Given the description of an element on the screen output the (x, y) to click on. 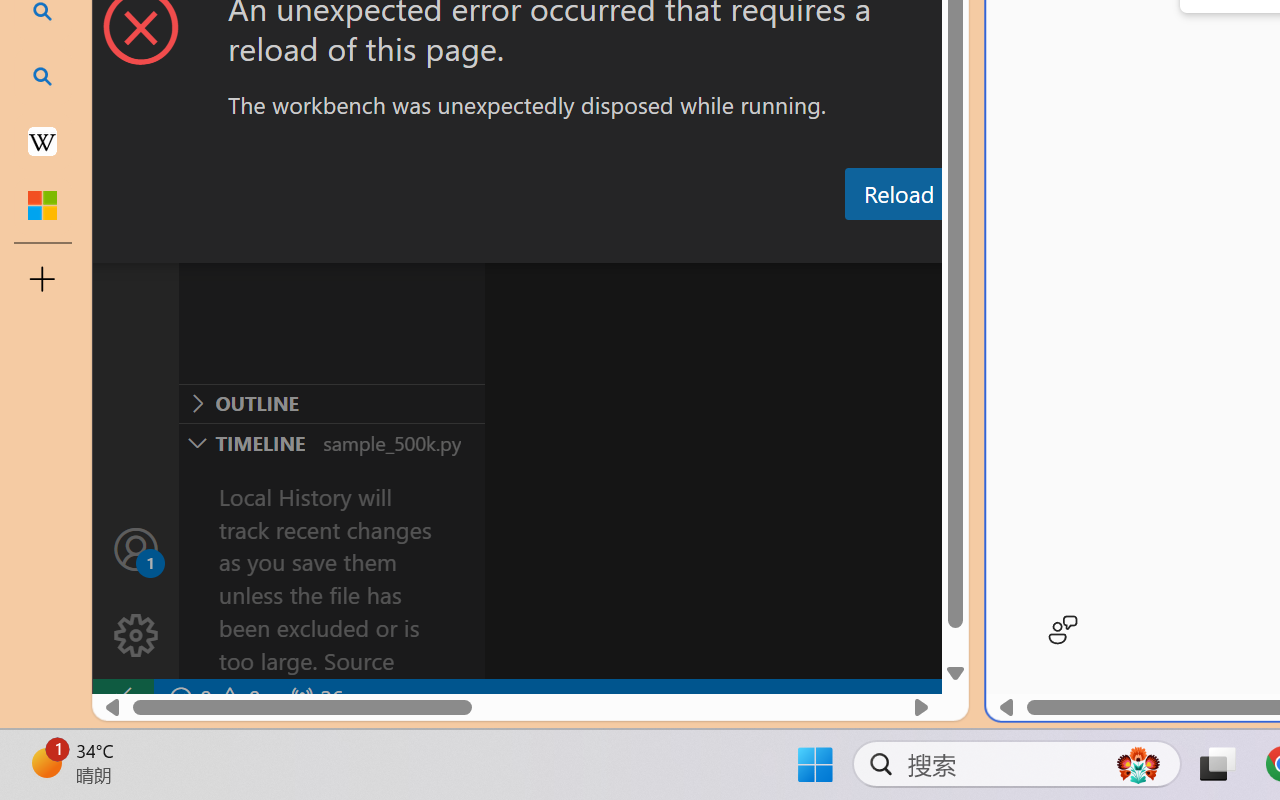
Manage (135, 591)
Problems (Ctrl+Shift+M) (567, 243)
Reload (898, 193)
Manage (135, 635)
Outline Section (331, 403)
Debug Console (Ctrl+Shift+Y) (854, 243)
